Given the description of an element on the screen output the (x, y) to click on. 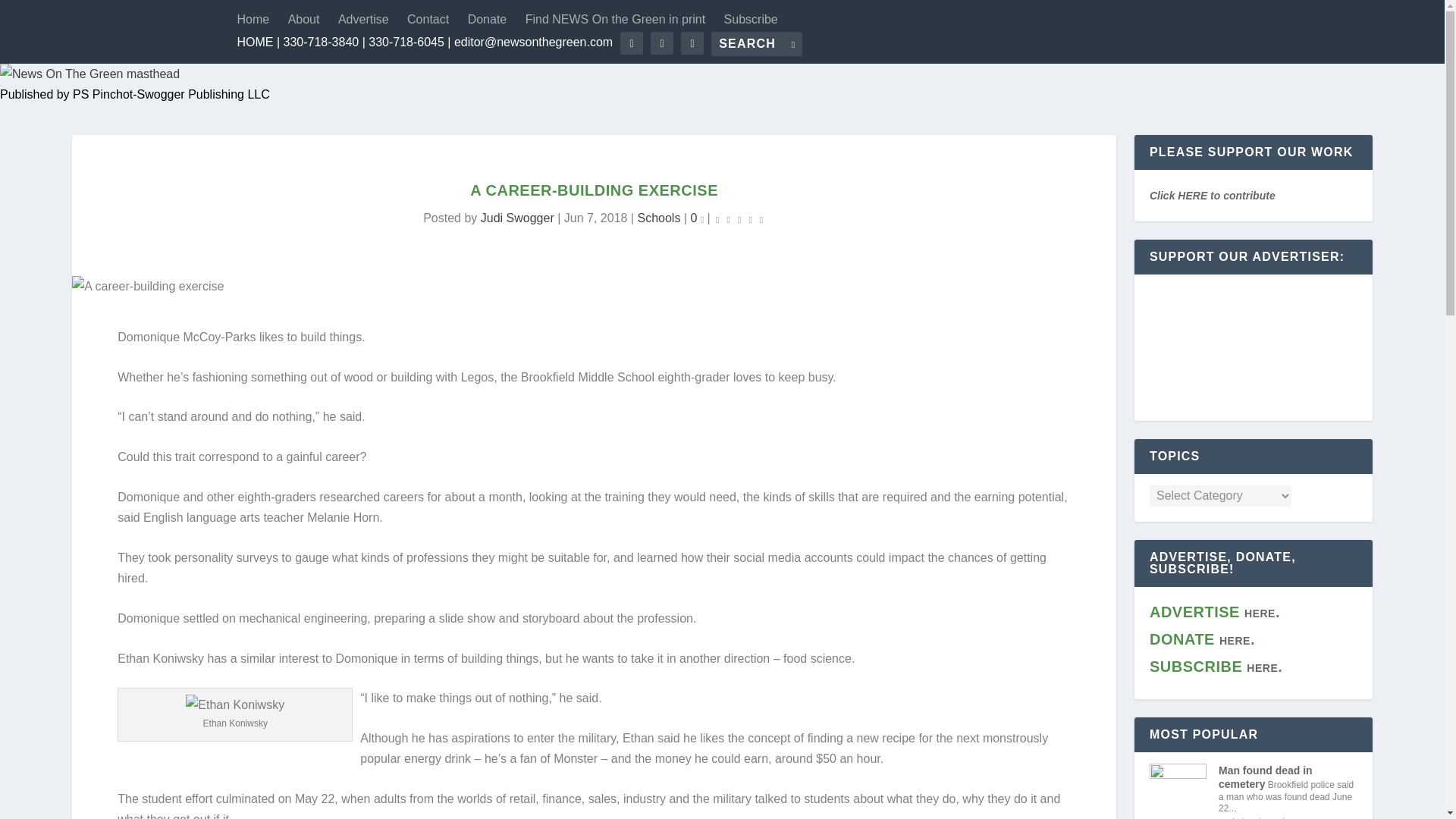
Search for: (756, 43)
Subscribe (750, 19)
Contact (427, 19)
Donate (486, 19)
HOME (254, 42)
Posts by Judi Swogger (517, 217)
Rating: 0.00 (739, 219)
330-718-3840 (321, 42)
Advertise (362, 19)
Find NEWS On the Green in print (614, 19)
330-718-6045 (406, 42)
